Given the description of an element on the screen output the (x, y) to click on. 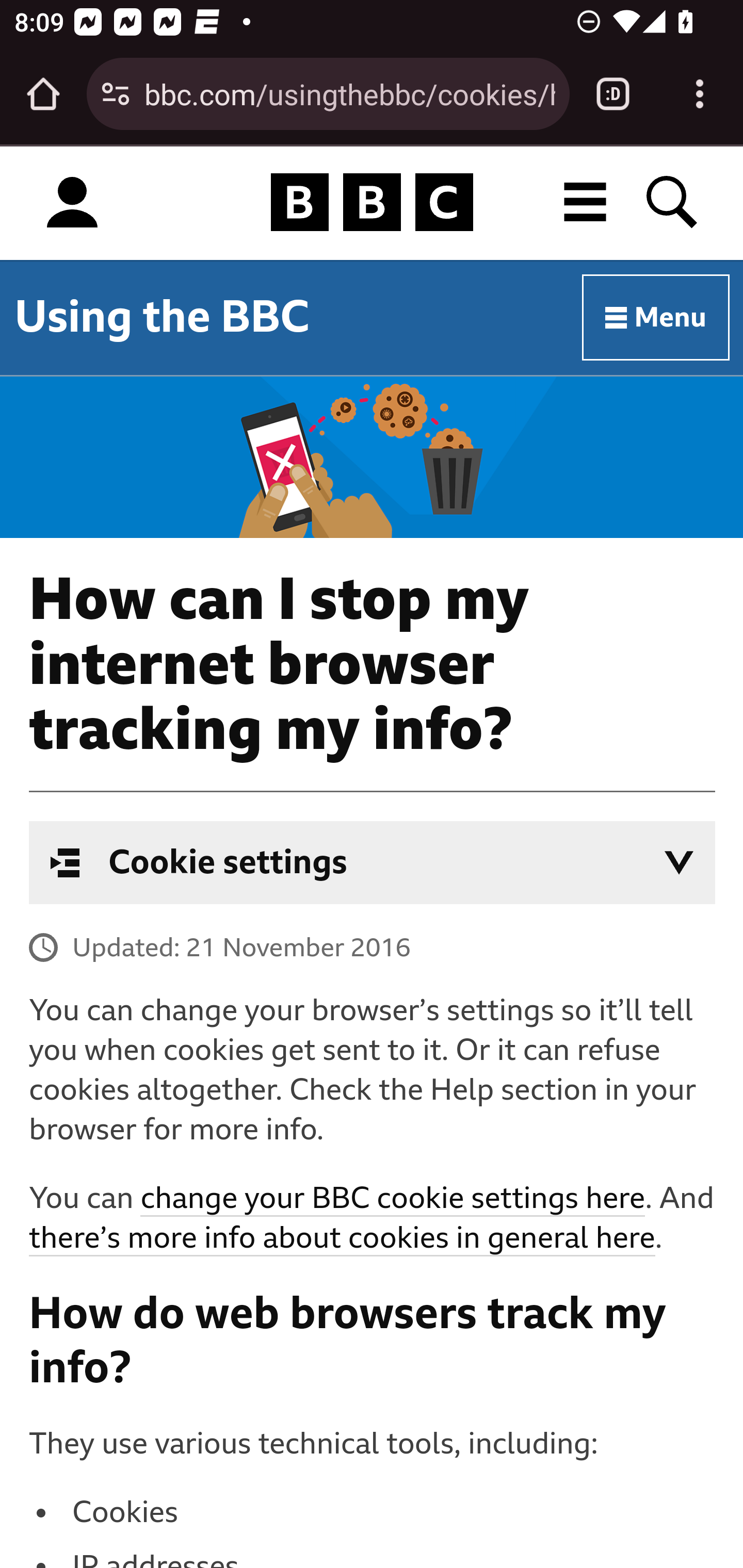
Open the home page (43, 93)
Connection is secure (115, 93)
Switch or close tabs (612, 93)
Customize and control Google Chrome (699, 93)
All BBC destinations menu (585, 202)
Search BBC (672, 202)
Sign in (71, 203)
Homepage (371, 203)
Menu (656, 317)
Using the BBC (162, 316)
Open in-page navigation (679, 862)
change your BBC cookie settings here (392, 1199)
there’s more info about cookies in general here (341, 1238)
